Given the description of an element on the screen output the (x, y) to click on. 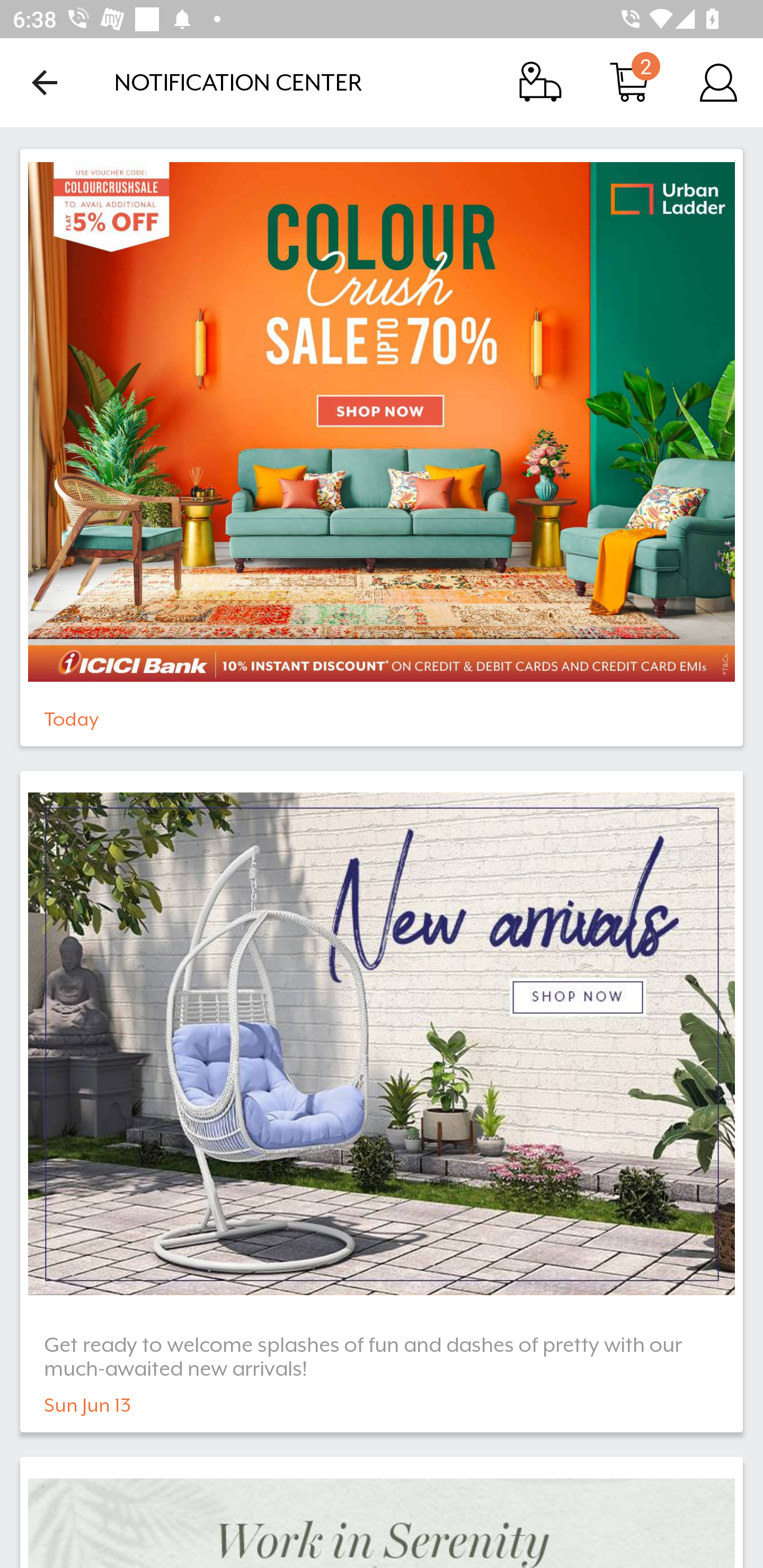
Navigate up (44, 82)
Track Order (540, 81)
Cart (629, 81)
Account Details (718, 81)
Today (381, 447)
